Given the description of an element on the screen output the (x, y) to click on. 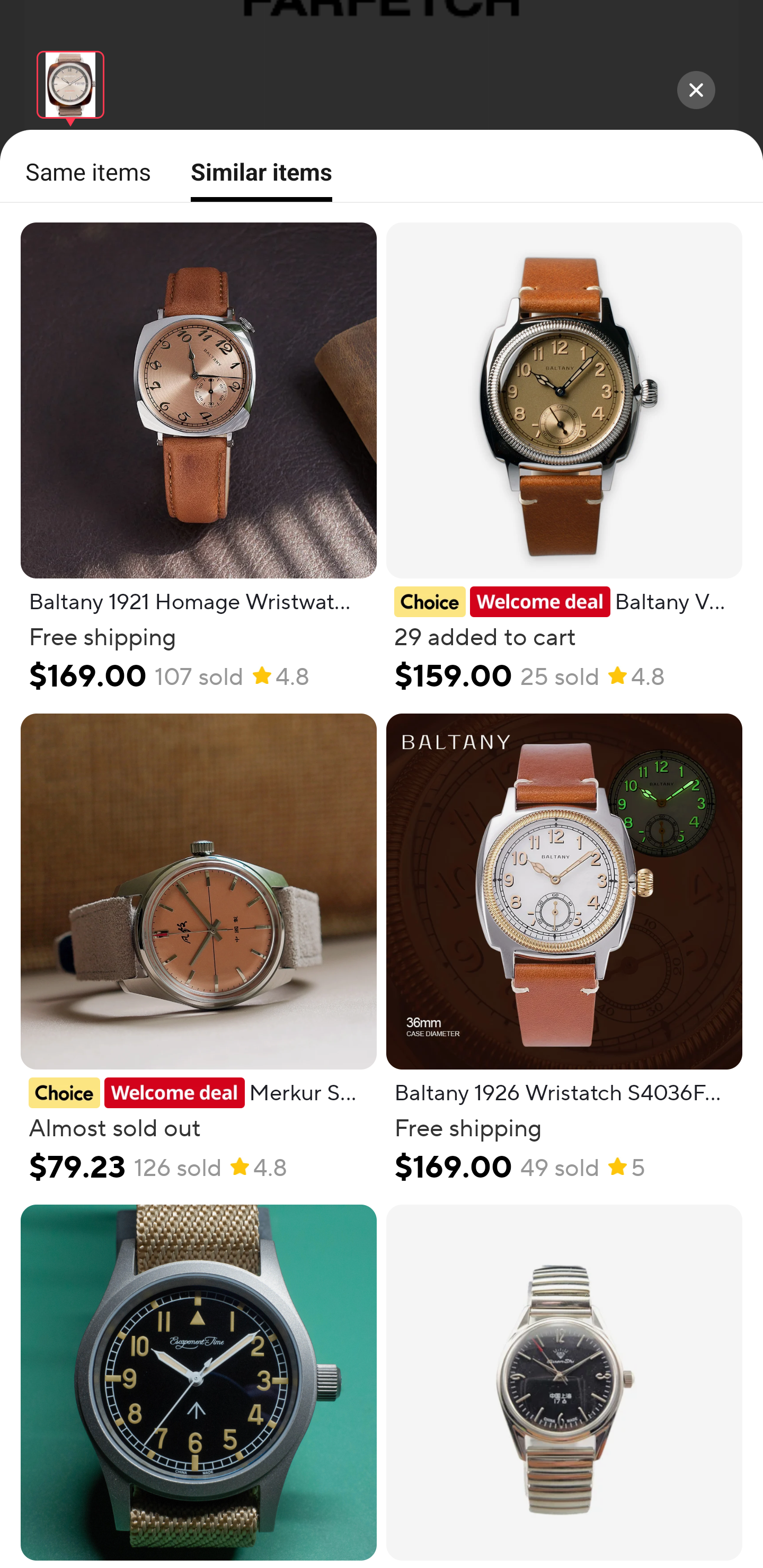
Same items (82, 171)
Similar items (255, 178)
